Given the description of an element on the screen output the (x, y) to click on. 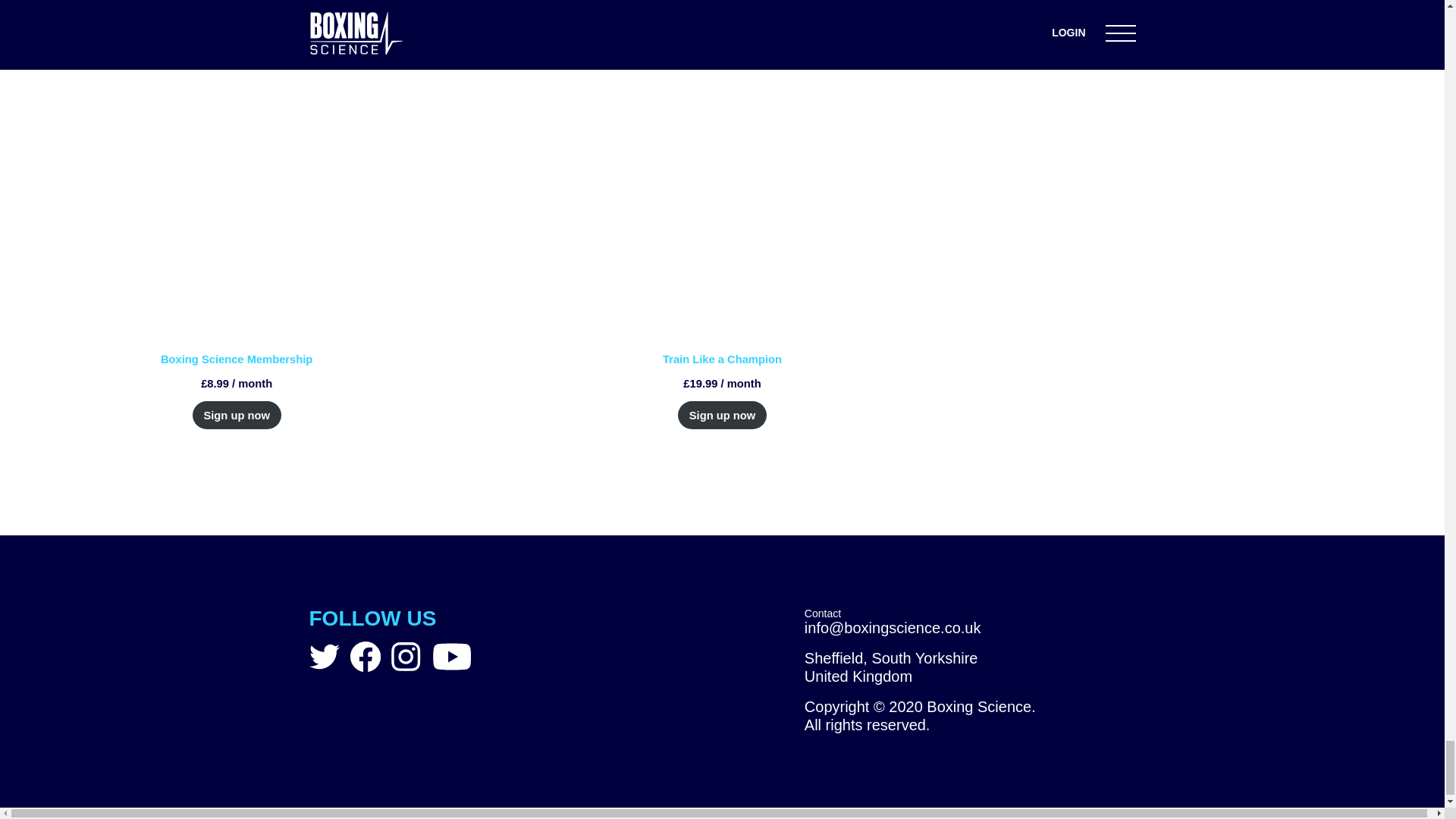
Sign up now (236, 415)
Sign up now (722, 415)
